Given the description of an element on the screen output the (x, y) to click on. 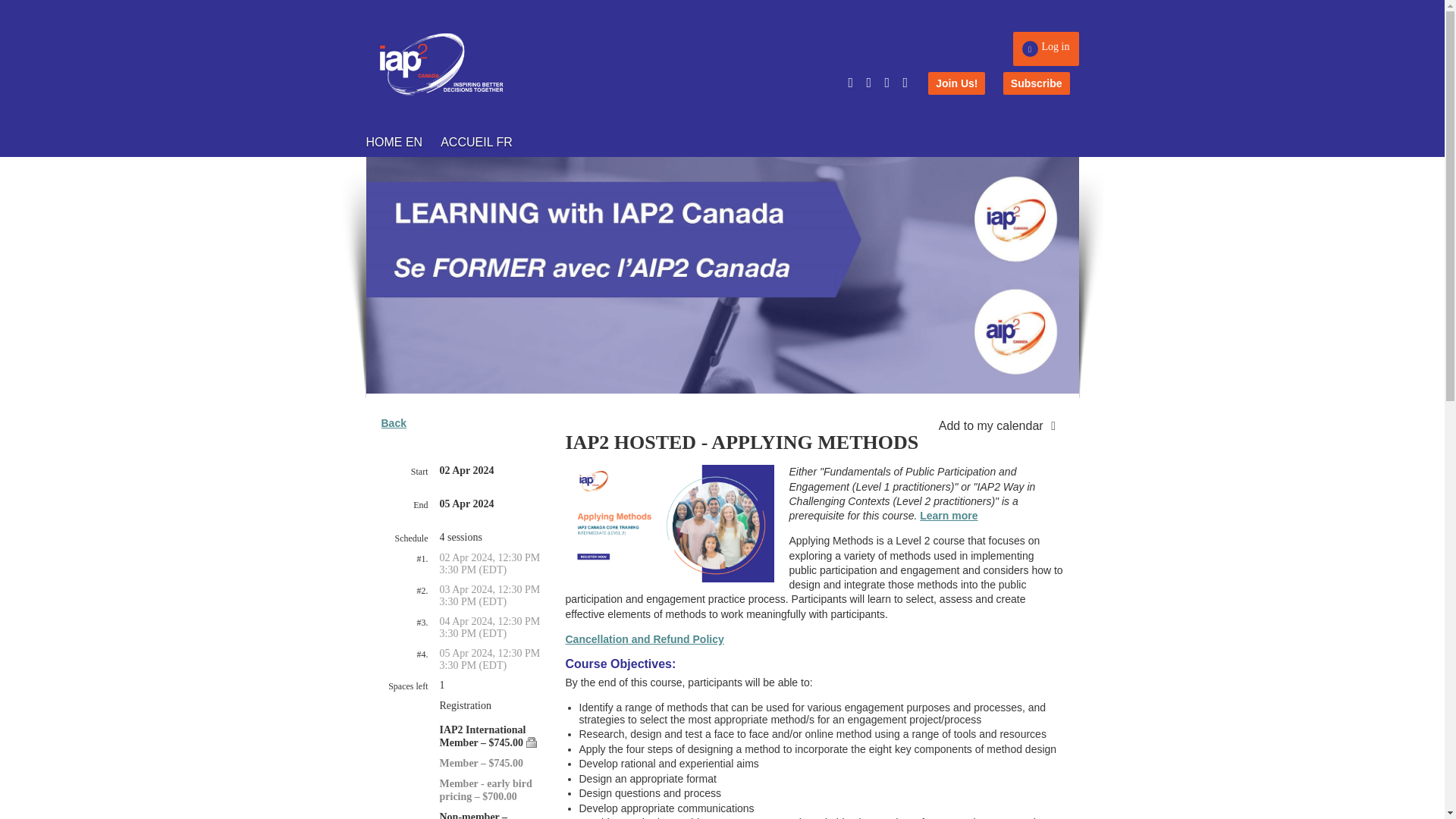
Join Us! (956, 83)
Subscribe (1036, 83)
Log in (1046, 48)
Home EN (403, 142)
HOME EN (403, 142)
